Given the description of an element on the screen output the (x, y) to click on. 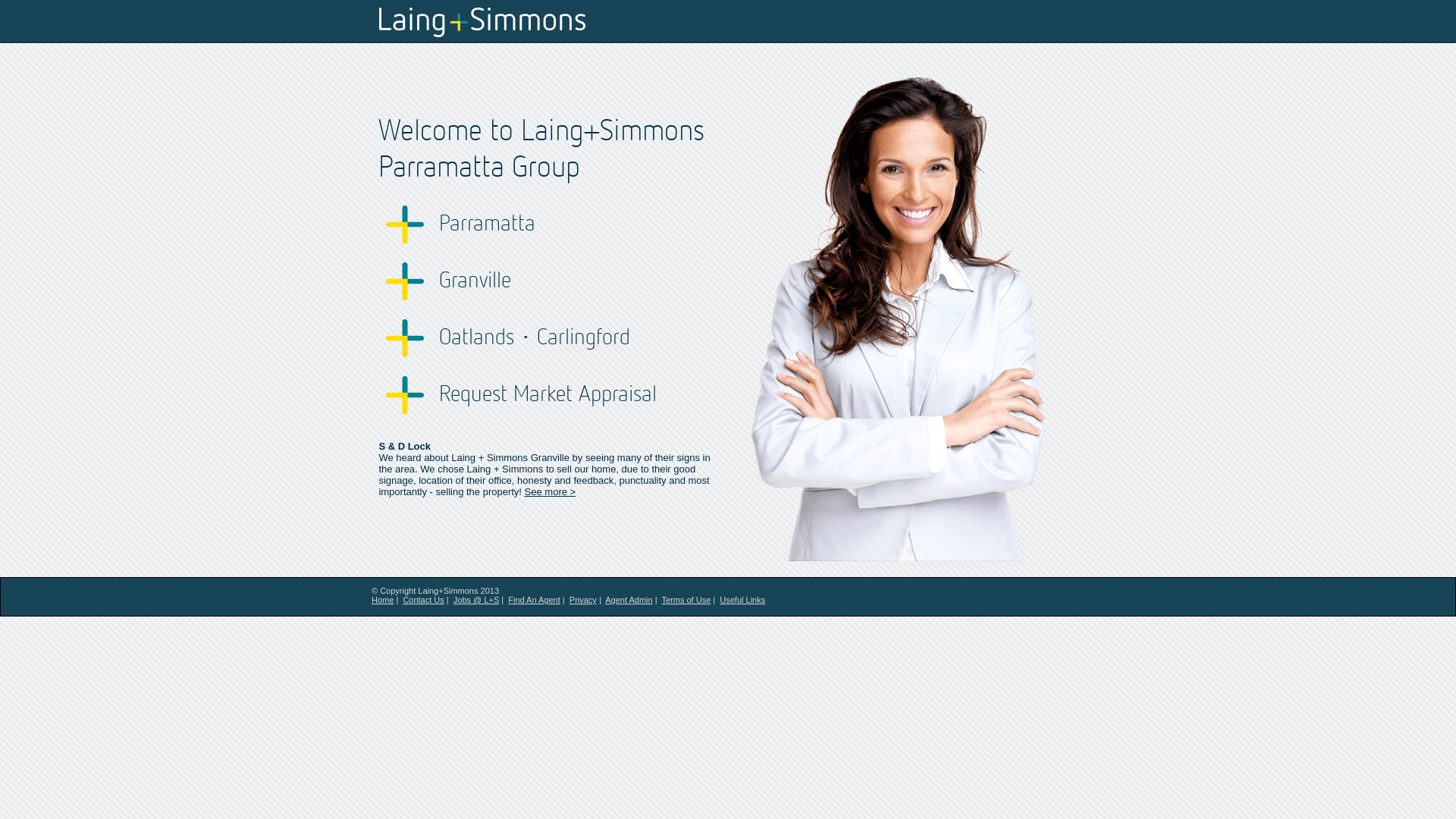
Agent Admin Element type: text (628, 599)
Granville Element type: text (579, 281)
Find An Agent Element type: text (534, 599)
Terms of Use Element type: text (685, 599)
Contact Us Element type: text (422, 599)
See more > Element type: text (546, 485)
Privacy Element type: text (582, 599)
Request Market Appraisal Element type: text (579, 395)
Useful Links Element type: text (742, 599)
Parramatta Element type: text (579, 224)
Jobs @ L+S Element type: text (475, 599)
Home Element type: text (382, 599)
